Given the description of an element on the screen output the (x, y) to click on. 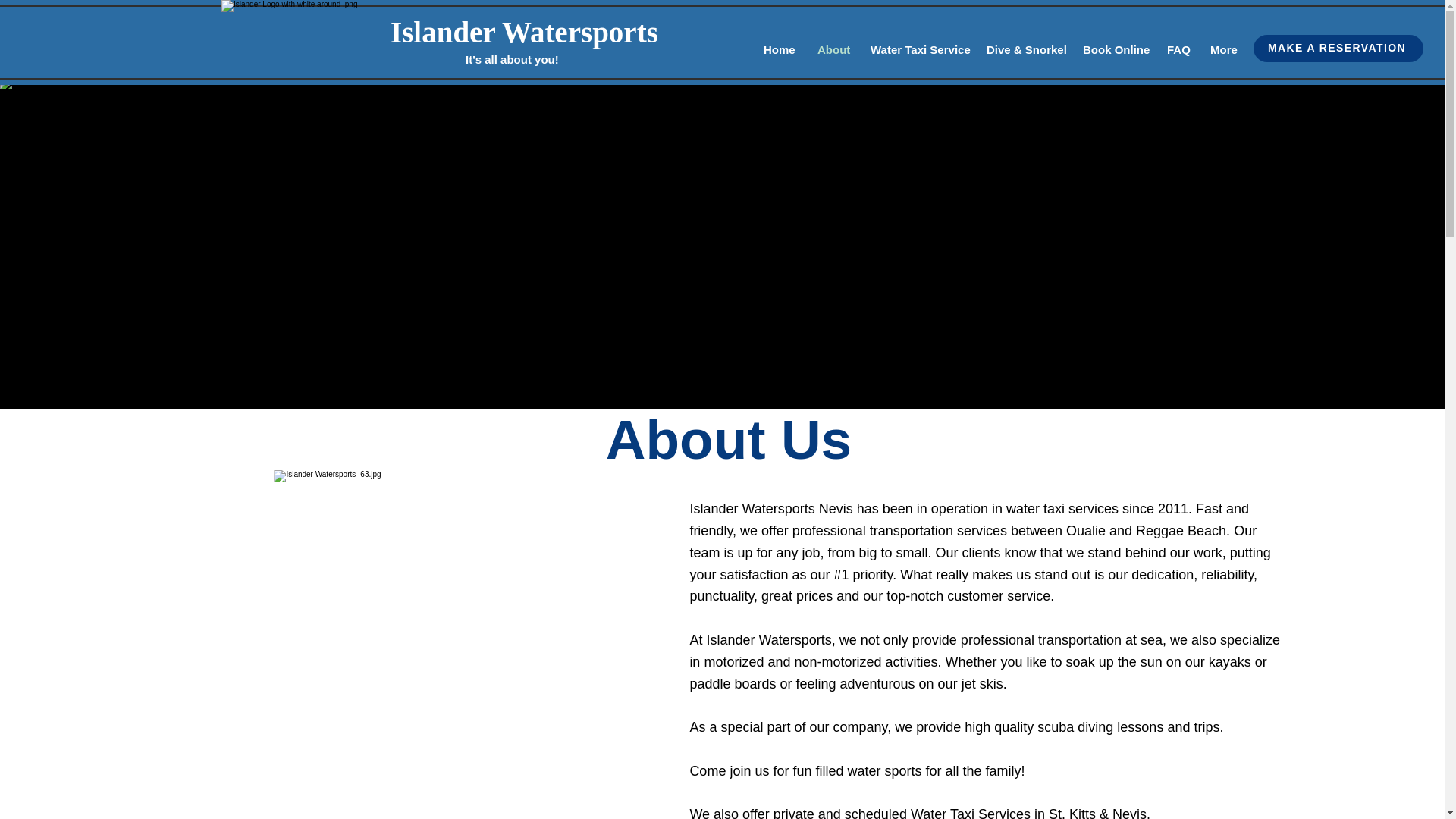
Book Online (1113, 49)
MAKE A RESERVATION (1338, 48)
Home (779, 49)
About (832, 49)
FAQ (1177, 49)
Islander Watersports (524, 31)
It's all about you! (512, 59)
Water Taxi Service (917, 49)
